Given the description of an element on the screen output the (x, y) to click on. 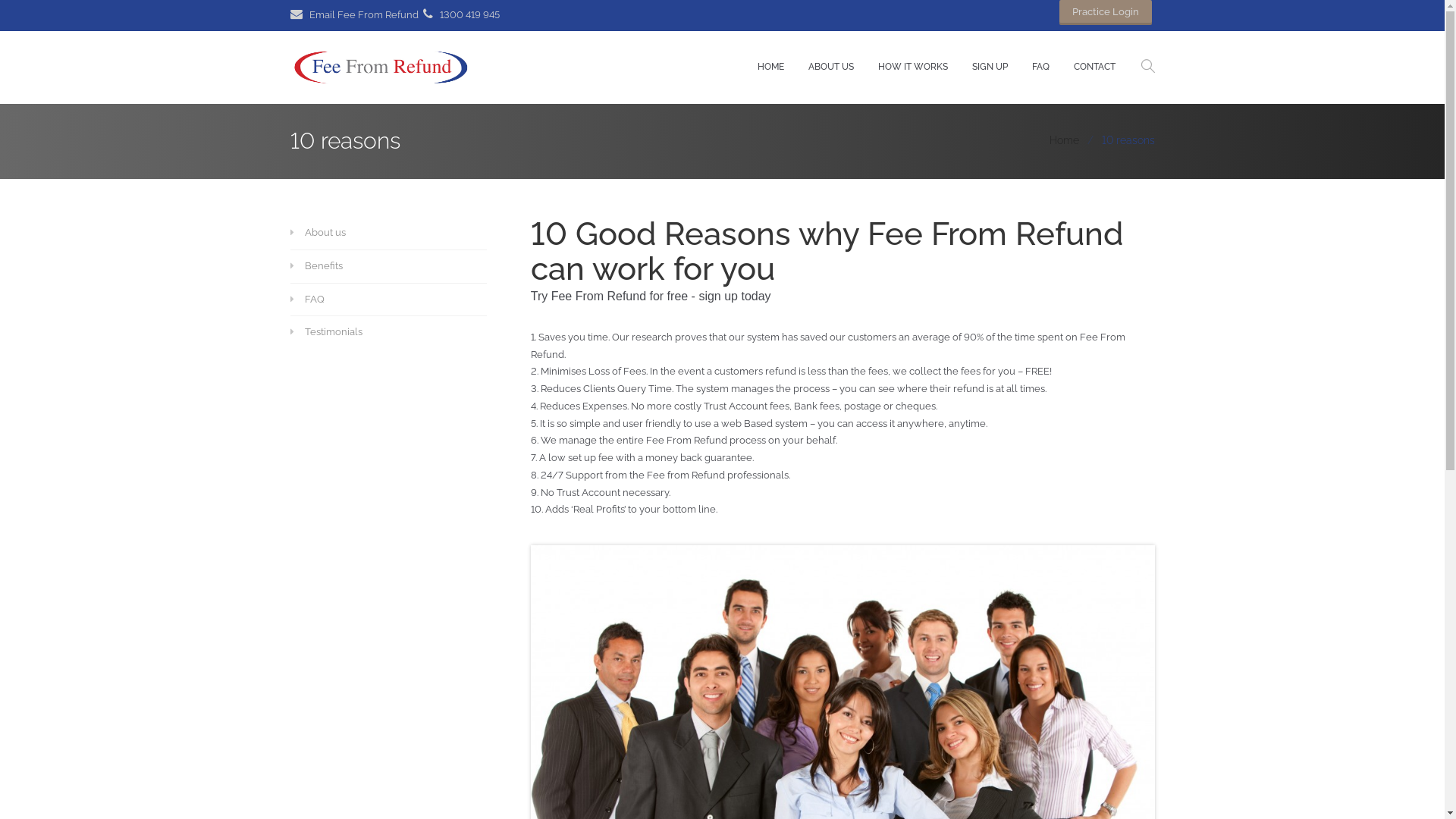
CONTACT Element type: text (1094, 67)
HOW IT WORKS Element type: text (912, 67)
HOME Element type: text (769, 67)
FAQ Element type: text (1039, 67)
SIGN UP Element type: text (989, 67)
Email Fee From Refund Element type: text (353, 14)
About us Element type: text (377, 232)
FAQ Element type: text (377, 299)
1300 419 945 Element type: text (461, 14)
Practice Login Element type: text (1104, 12)
Benefits Element type: text (377, 266)
ABOUT US Element type: text (830, 67)
Home Element type: text (1064, 140)
Testimonials Element type: text (377, 332)
